Given the description of an element on the screen output the (x, y) to click on. 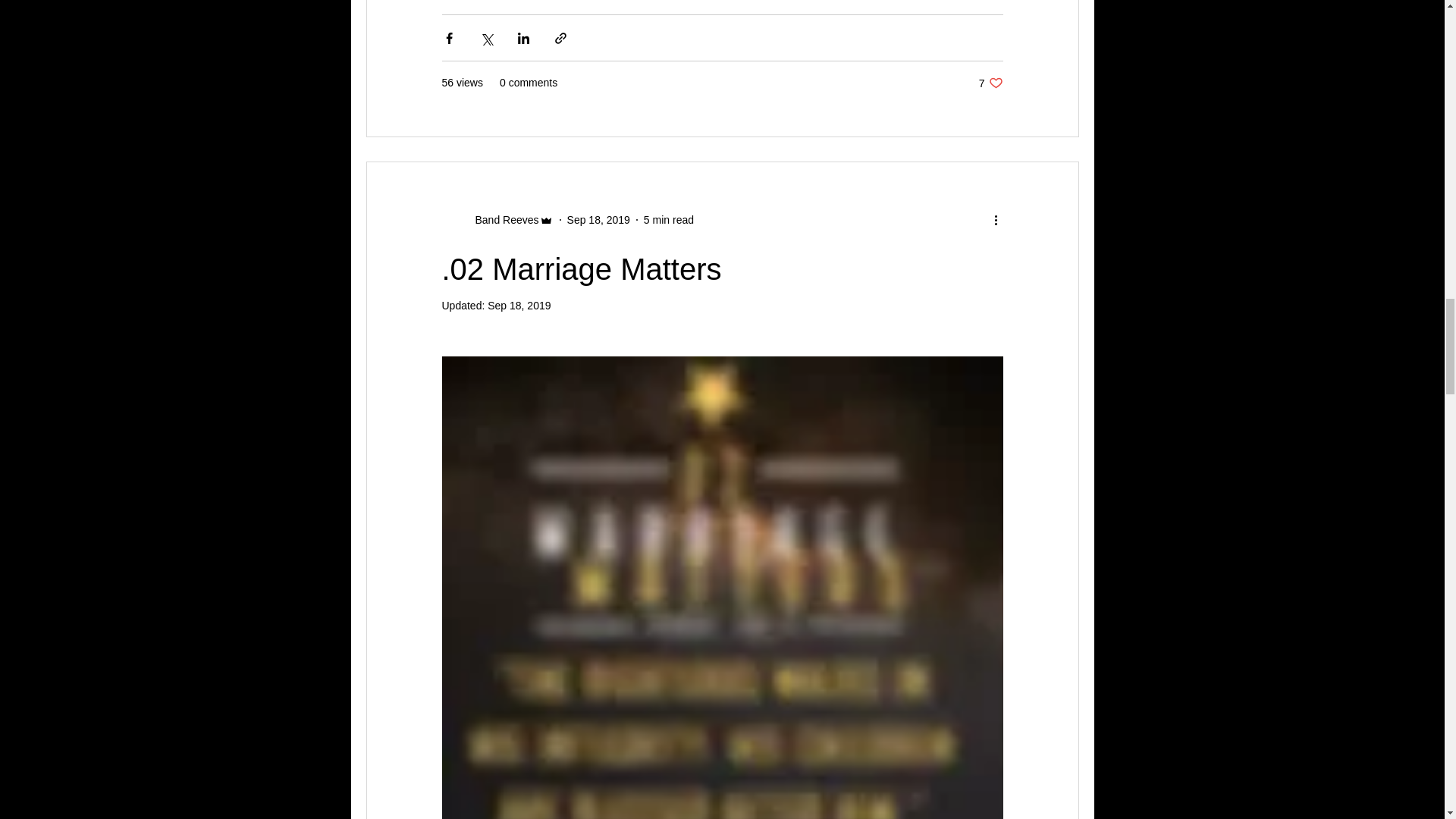
Band Reeves (501, 219)
0 comments (528, 82)
Band Reeves (990, 83)
5 min read (497, 219)
Sep 18, 2019 (668, 219)
Sep 18, 2019 (598, 219)
.02 Marriage Matters (518, 305)
